Given the description of an element on the screen output the (x, y) to click on. 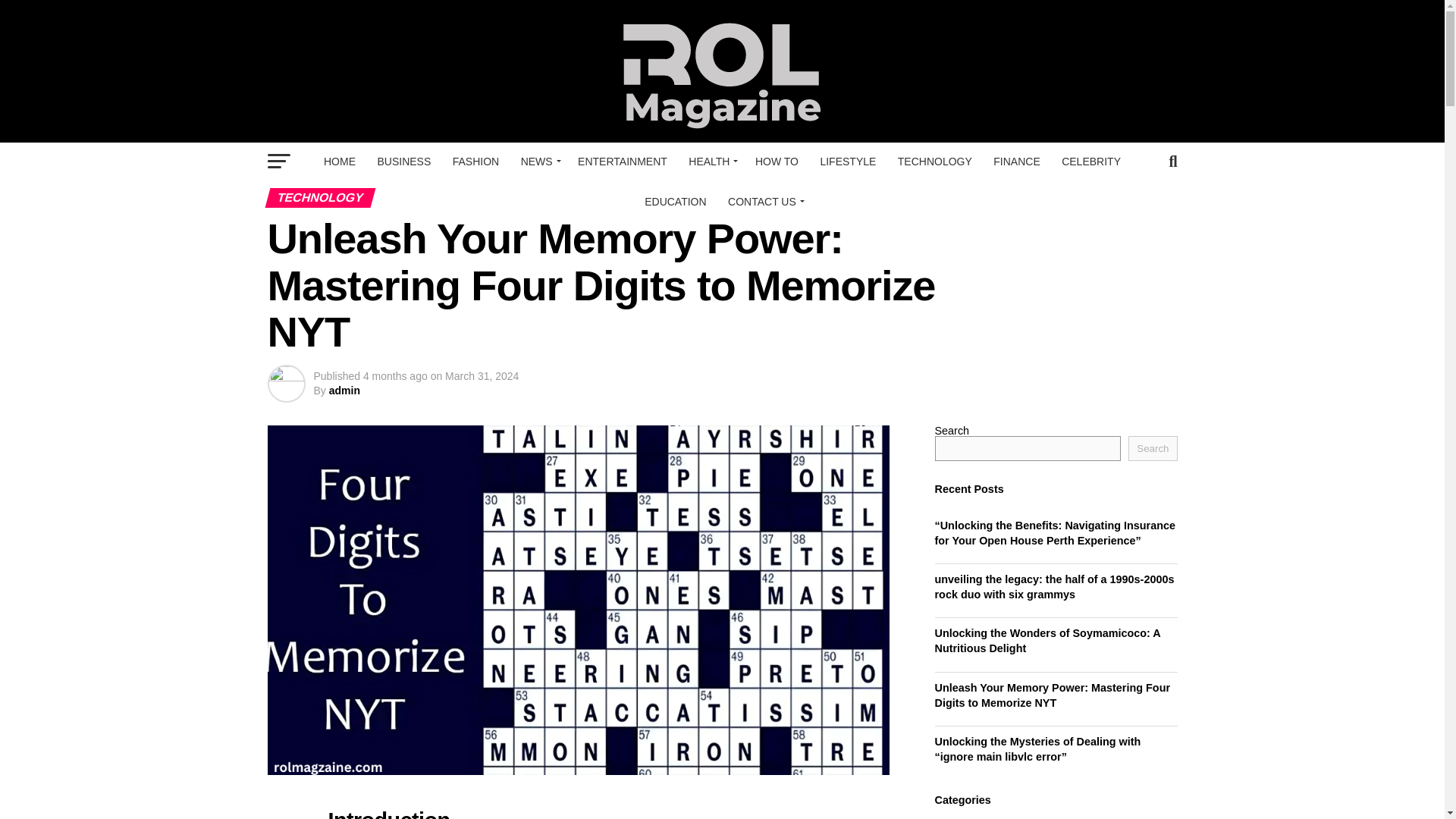
HEALTH (710, 161)
BUSINESS (403, 161)
ENTERTAINMENT (623, 161)
FASHION (476, 161)
Posts by admin (344, 390)
NEWS (539, 161)
HOME (339, 161)
